Given the description of an element on the screen output the (x, y) to click on. 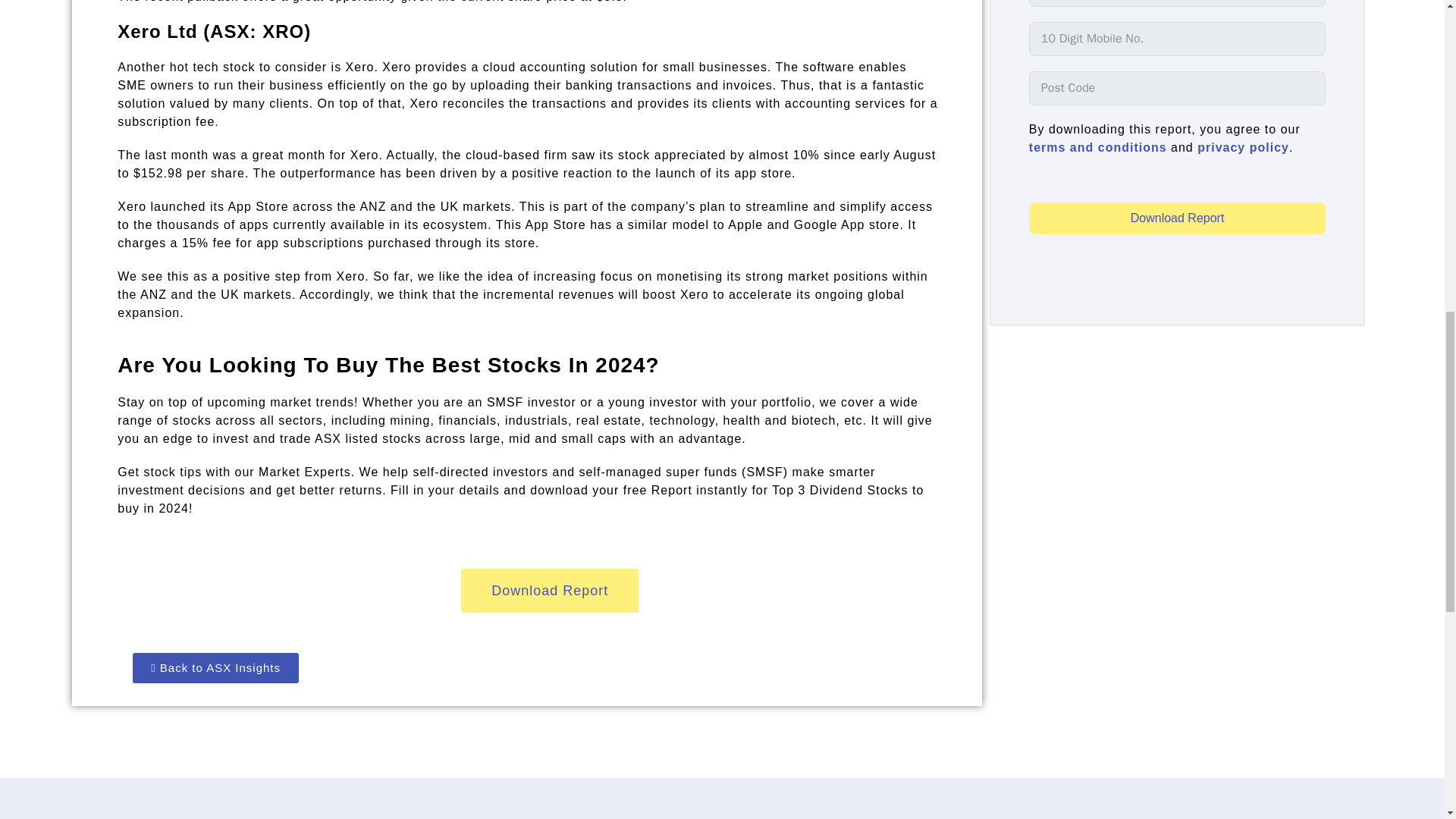
Download Report (549, 590)
terms and conditions (1098, 146)
privacy policy (1242, 146)
Back to ASX Insights (215, 667)
Download Report (1177, 218)
